Given the description of an element on the screen output the (x, y) to click on. 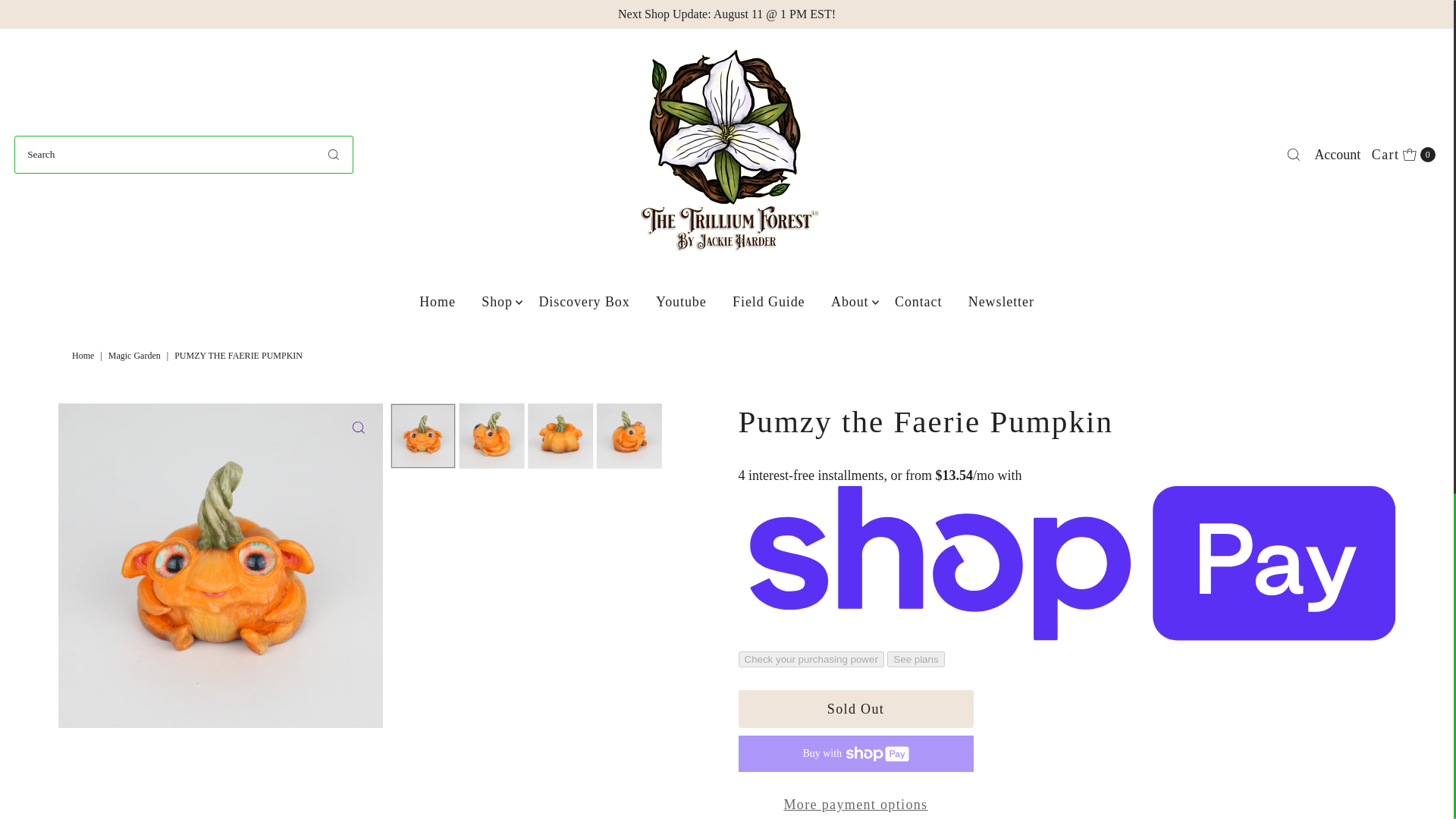
Shop (497, 301)
Home (437, 301)
Home (84, 355)
Magic Garden (135, 355)
Youtube (681, 301)
Field Guide (767, 301)
Click to zoom (358, 427)
Sold Out (1403, 153)
Account (856, 709)
